Given the description of an element on the screen output the (x, y) to click on. 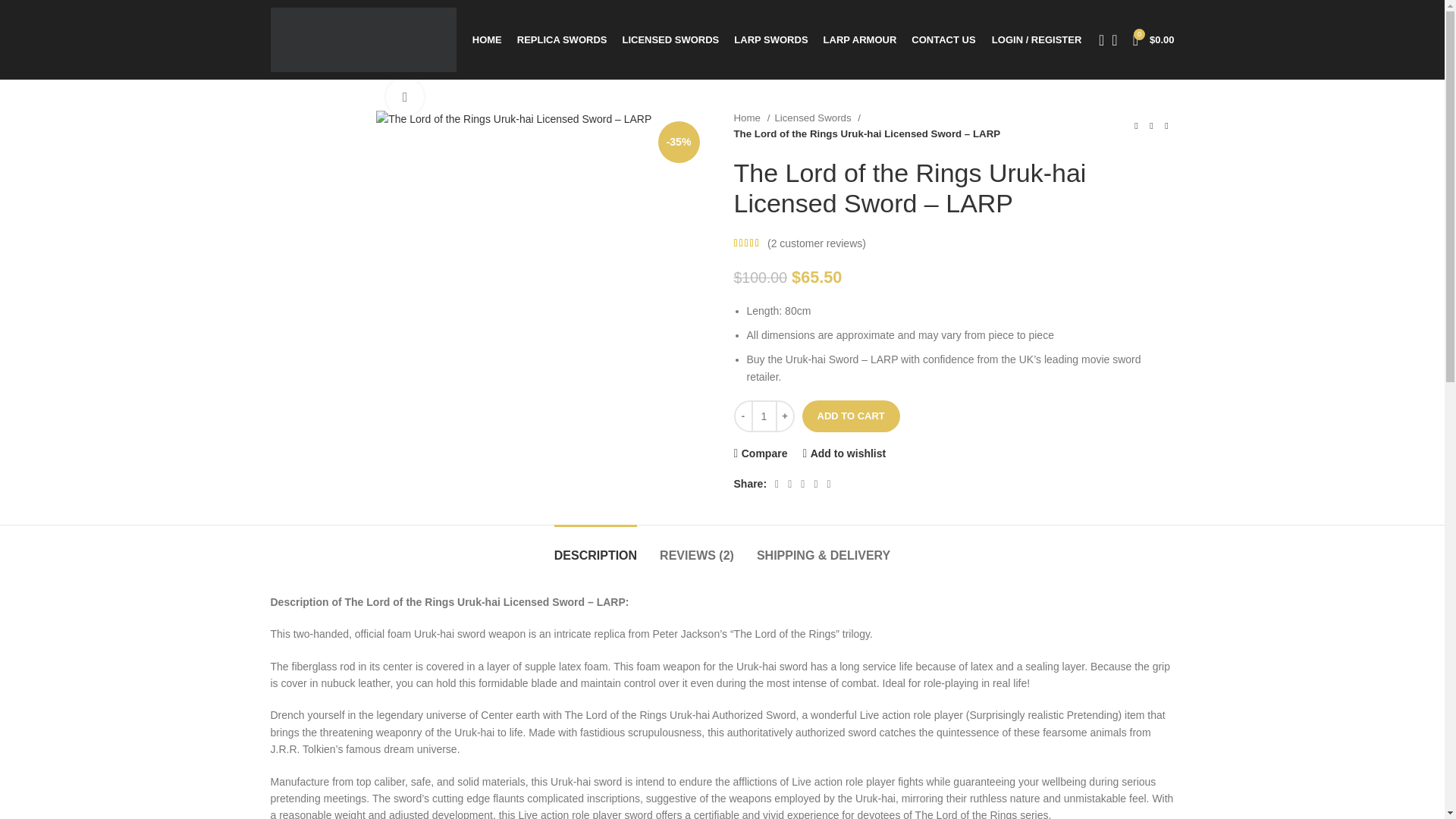
Licensed Swords (817, 117)
DESCRIPTION (595, 547)
LARP SWORDS (770, 39)
ADD TO CART (850, 416)
LARP ARMOUR (860, 39)
LICENSED SWORDS (670, 39)
Compare (760, 452)
CONTACT US (943, 39)
HOME (486, 39)
My account (1036, 39)
